Given the description of an element on the screen output the (x, y) to click on. 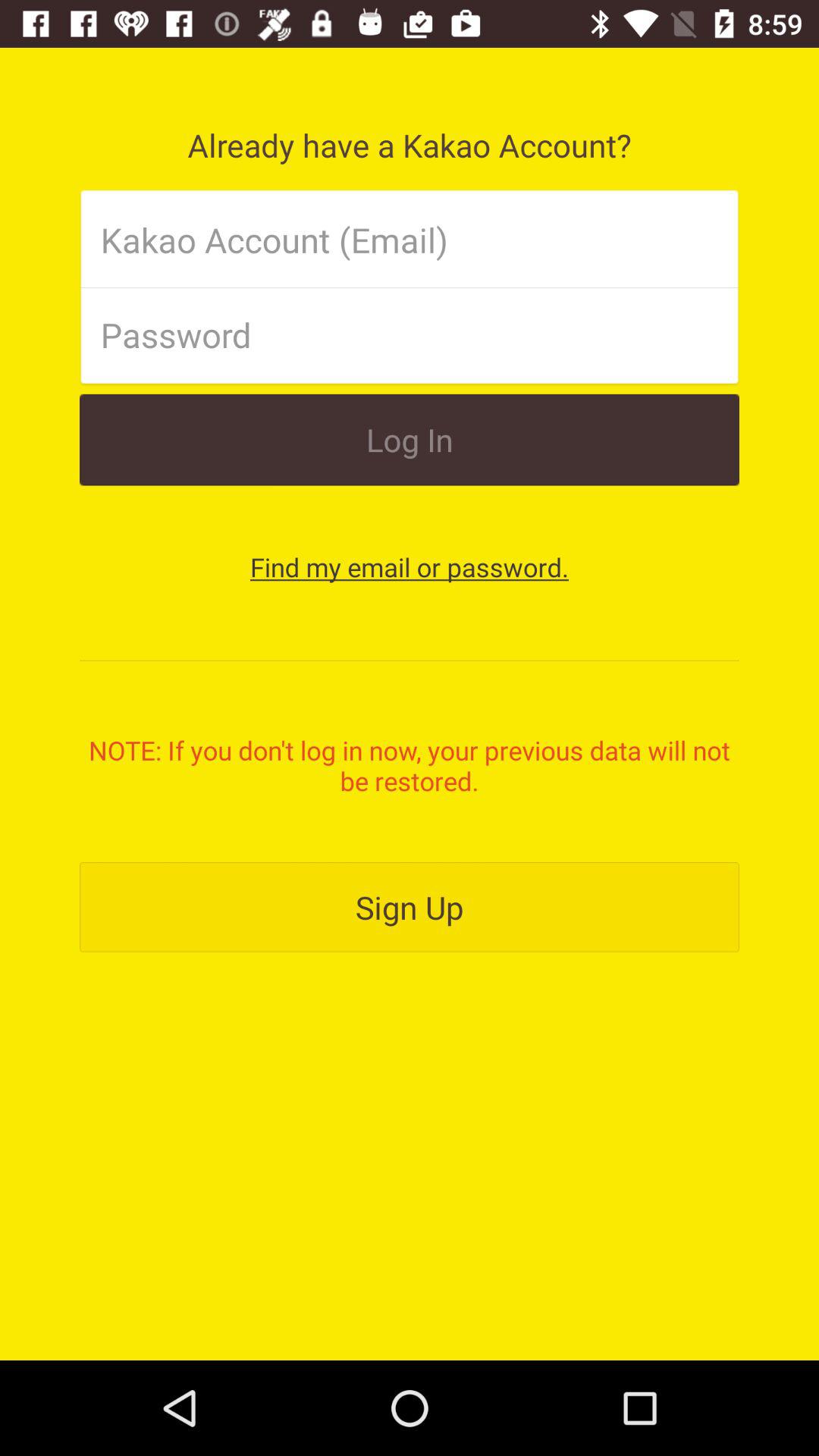
turn off the find my email (409, 566)
